Given the description of an element on the screen output the (x, y) to click on. 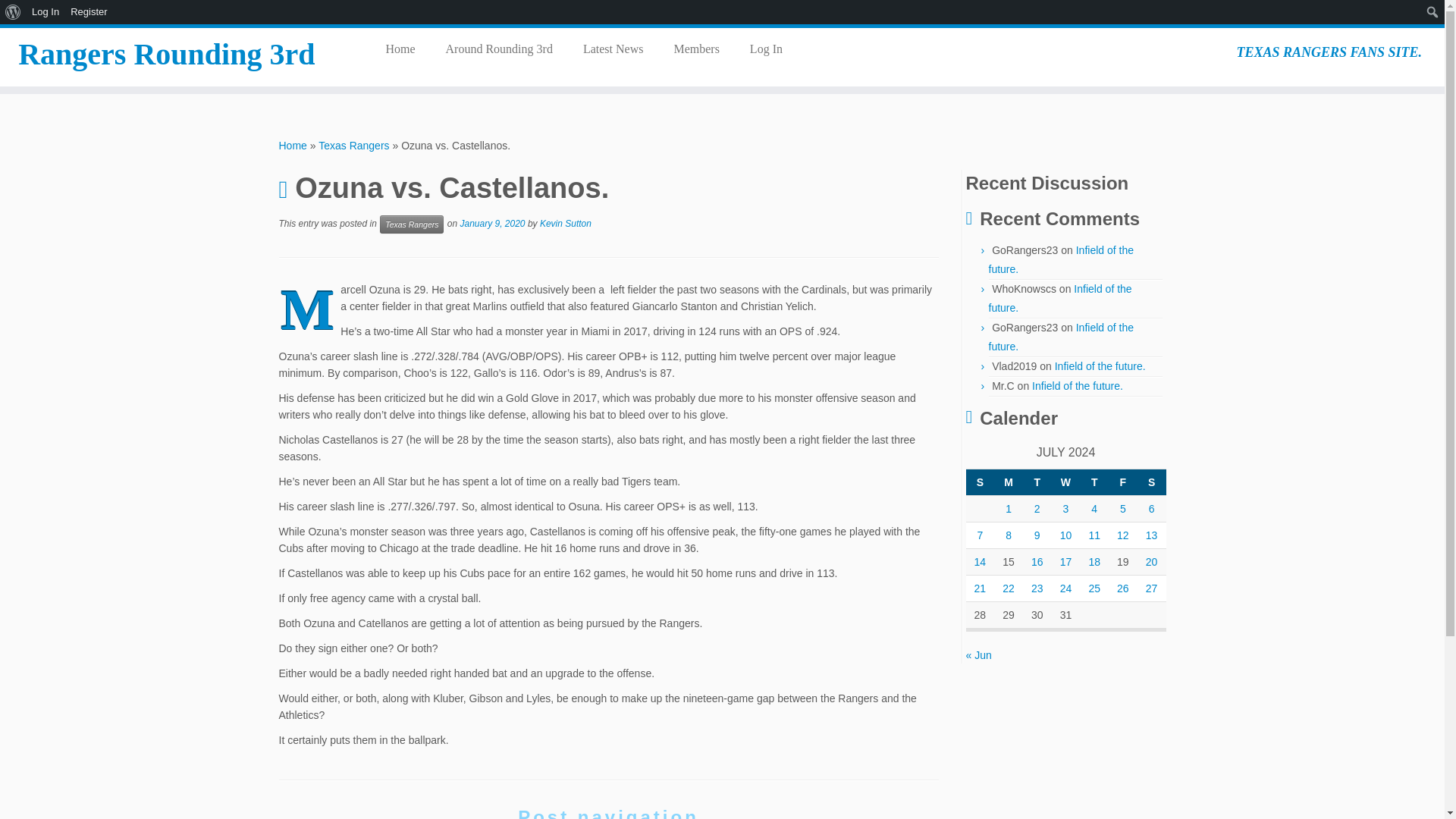
5 (1122, 508)
Infield of the future. (1077, 386)
Monday (1008, 481)
Latest News (613, 48)
Members (695, 48)
Infield of the future. (1061, 259)
Texas Rangers (412, 224)
Log In (759, 48)
Home (405, 48)
7 (979, 535)
Rangers Rounding 3rd (293, 145)
Register (89, 12)
11 (1093, 535)
View all posts by Kevin Sutton (565, 223)
6 (1151, 508)
